Given the description of an element on the screen output the (x, y) to click on. 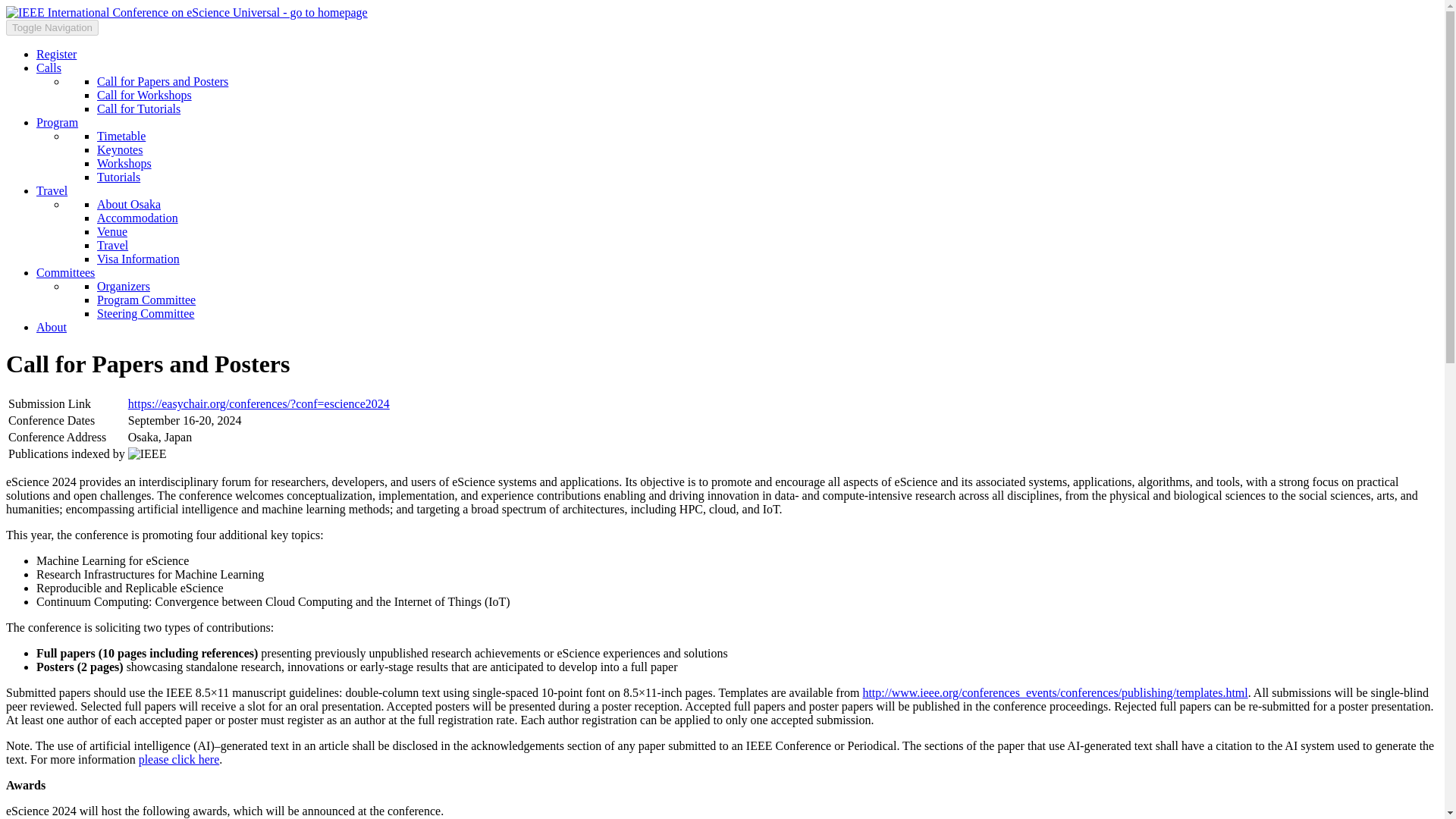
About Osaka (128, 204)
Program Committee (146, 299)
Organizers (123, 286)
Call for Workshops (144, 94)
Call for Papers and Posters (162, 81)
Visa Information (138, 258)
Call for Tutorials (138, 108)
Accommodation (137, 217)
Travel (51, 190)
please click here (178, 758)
